Given the description of an element on the screen output the (x, y) to click on. 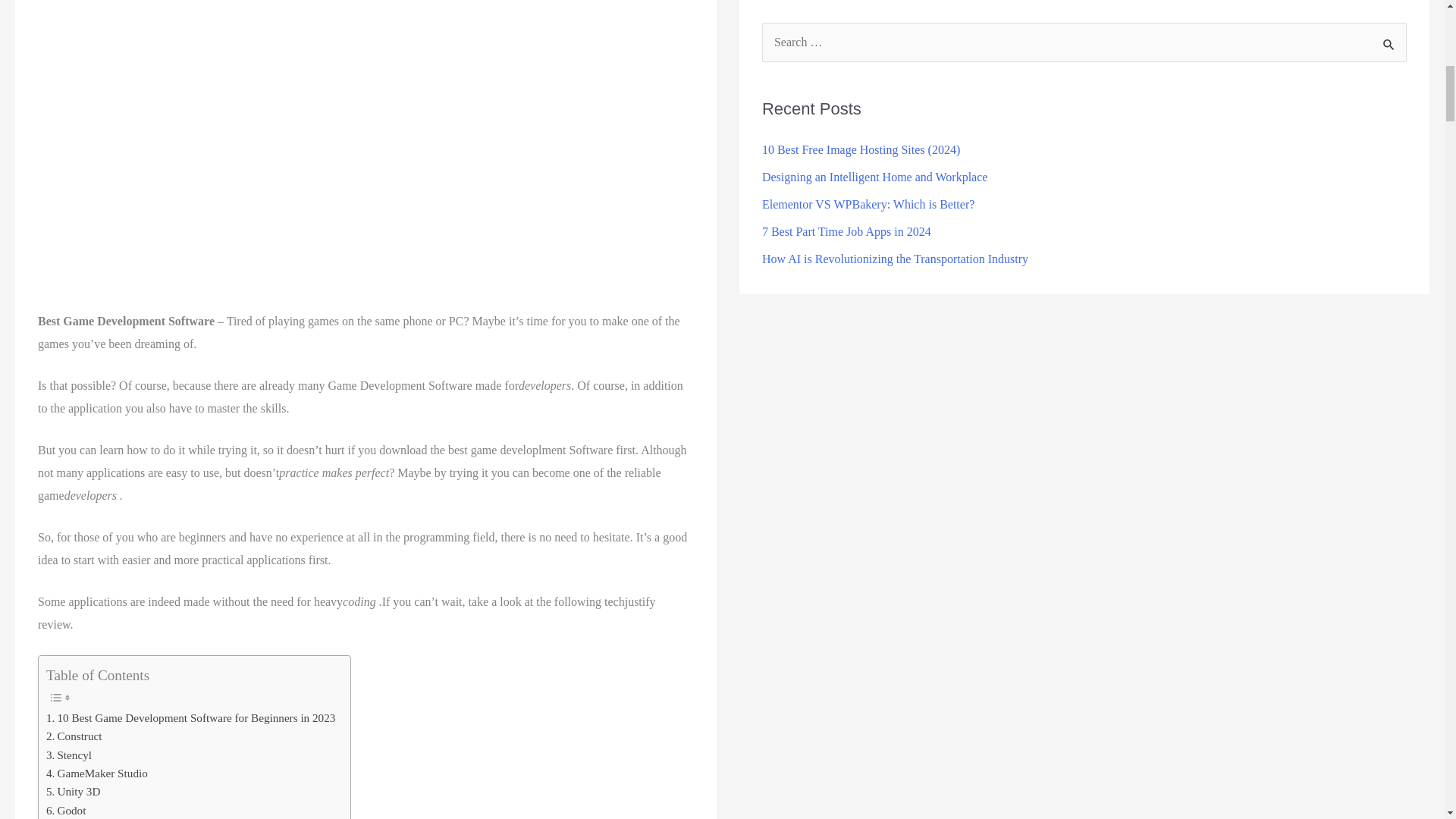
Construct (73, 736)
Godot (65, 810)
GameMaker Studio (97, 773)
10 Best Game Development Software for Beginners in 2023 (190, 718)
Unity 3D (73, 791)
Stencyl (68, 755)
